Given the description of an element on the screen output the (x, y) to click on. 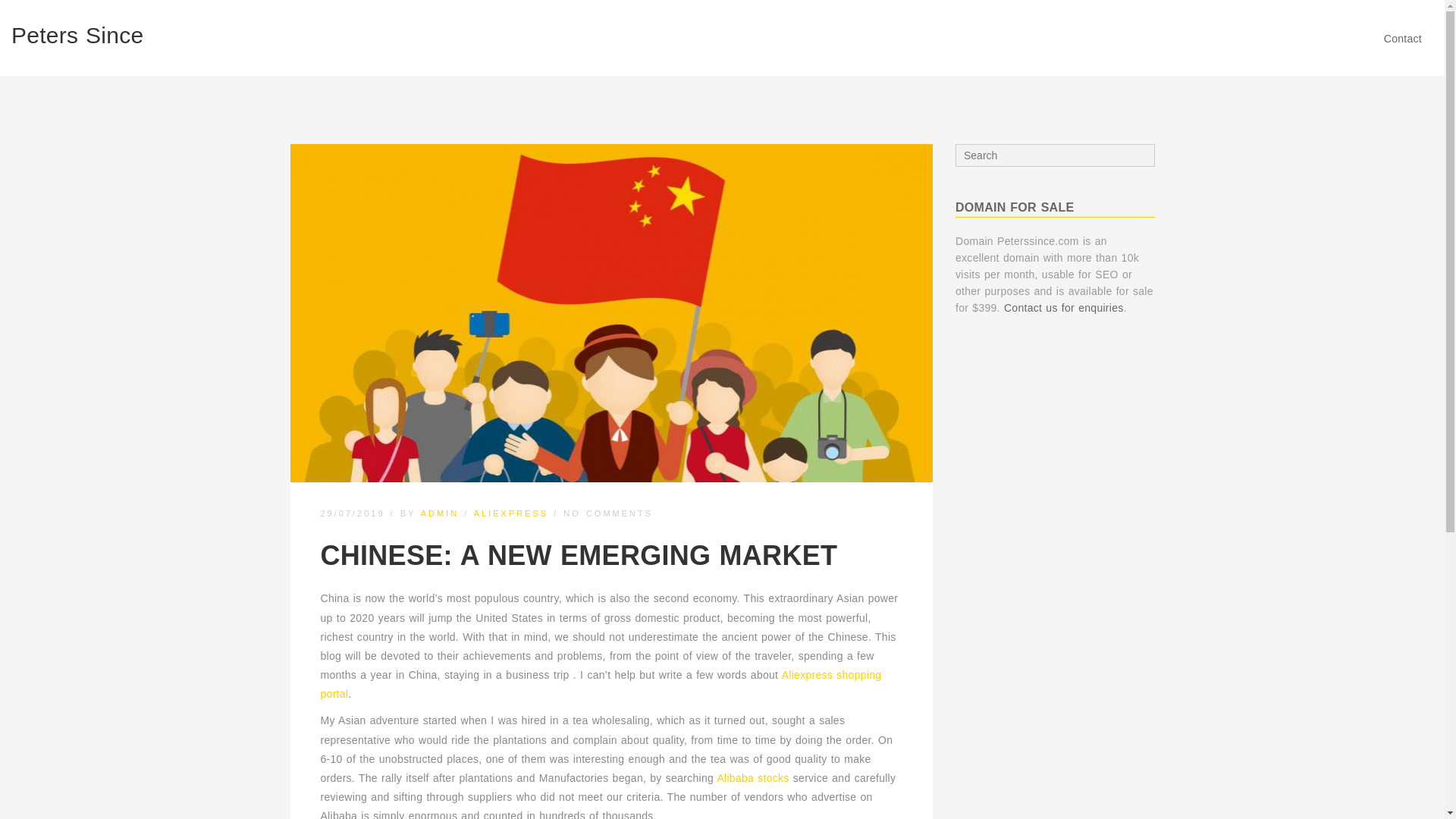
ADMIN (439, 512)
Contact (1402, 38)
ALIEXPRESS (511, 512)
Contact us for enquiries (1064, 307)
Peters Since (76, 34)
Peters Since (76, 34)
Aliexpress shopping portal (600, 684)
Alibaba stocks (752, 777)
